Given the description of an element on the screen output the (x, y) to click on. 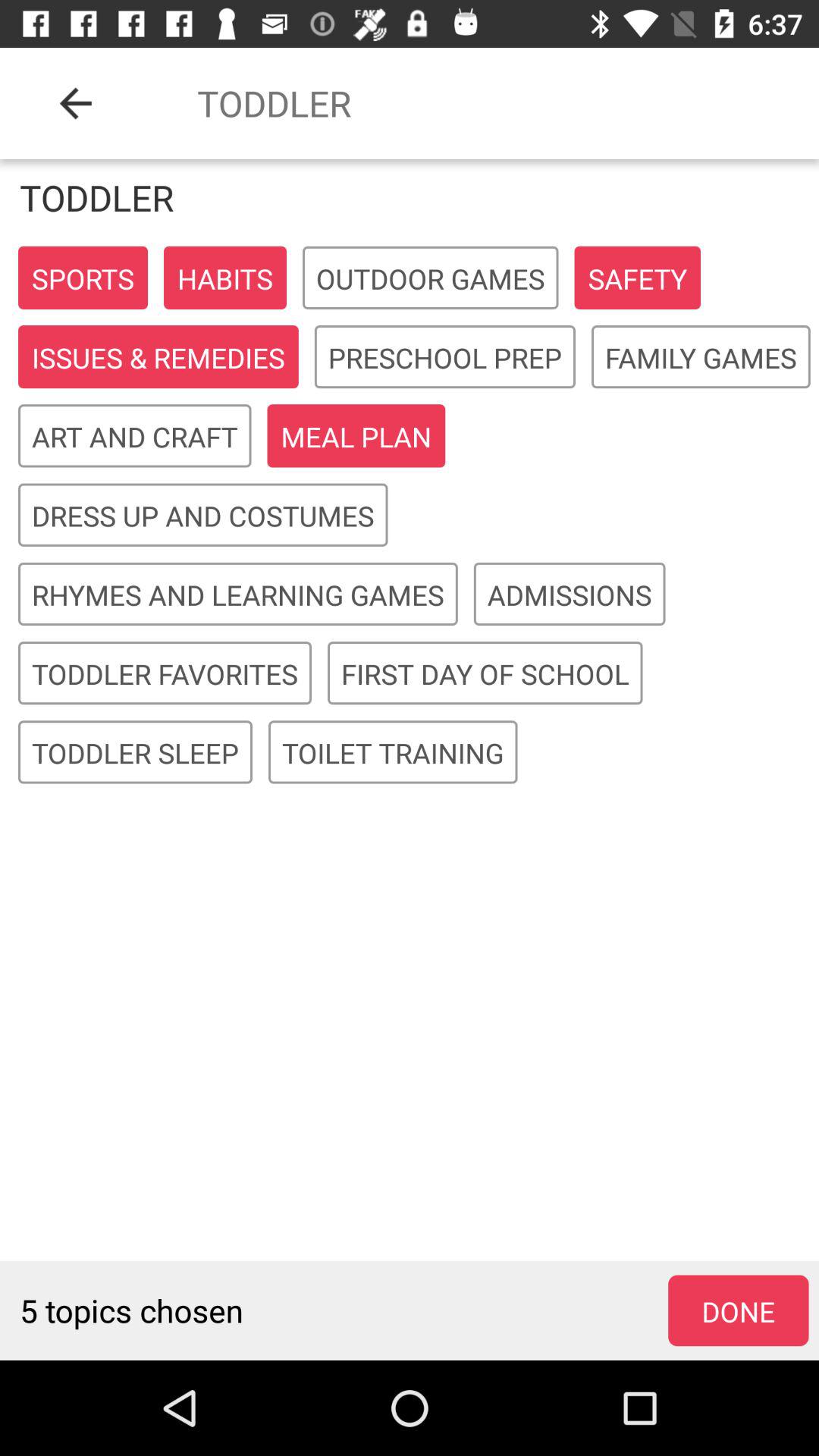
jump to the outdoor games icon (430, 278)
